Given the description of an element on the screen output the (x, y) to click on. 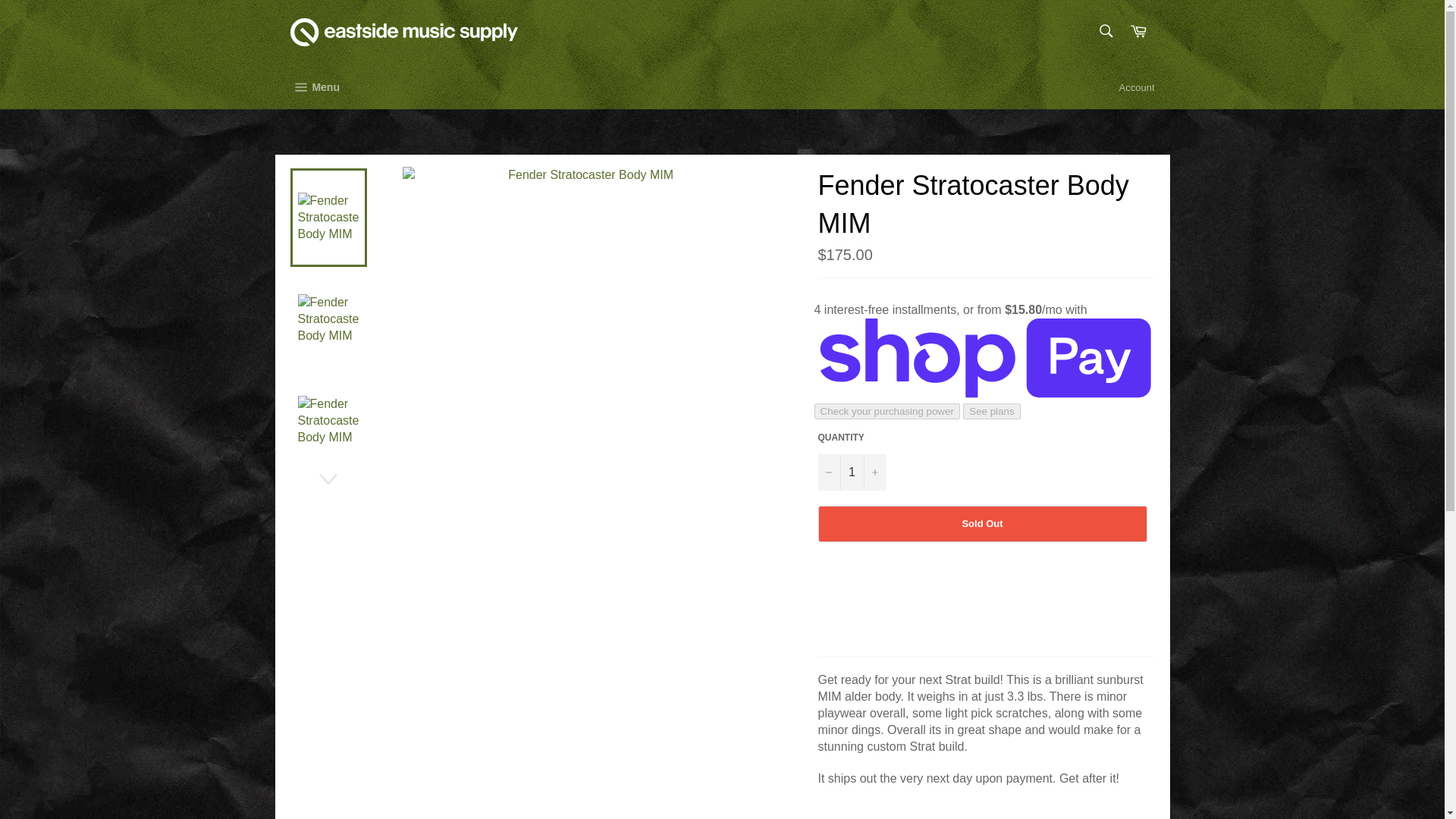
1 (850, 472)
